Given the description of an element on the screen output the (x, y) to click on. 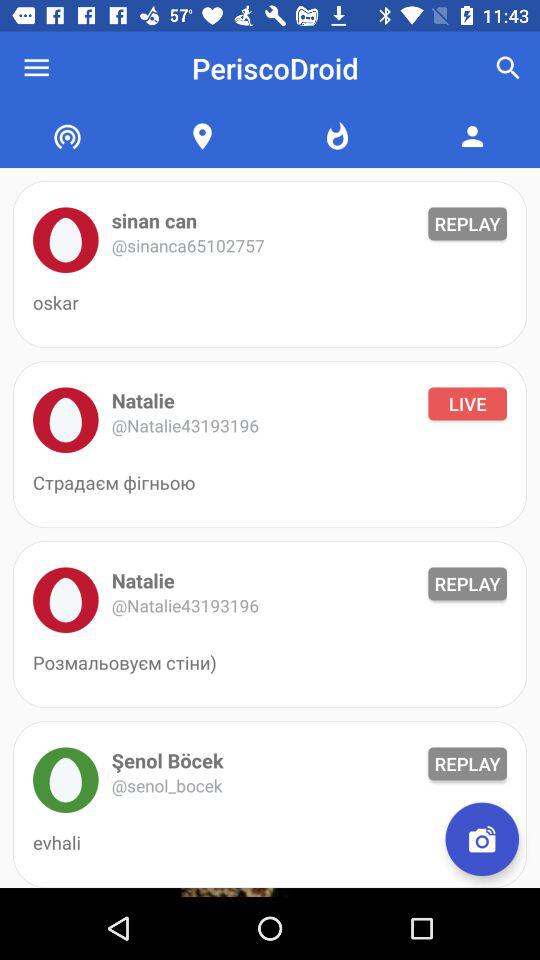
click the icon below @senol_bocek icon (482, 839)
